Given the description of an element on the screen output the (x, y) to click on. 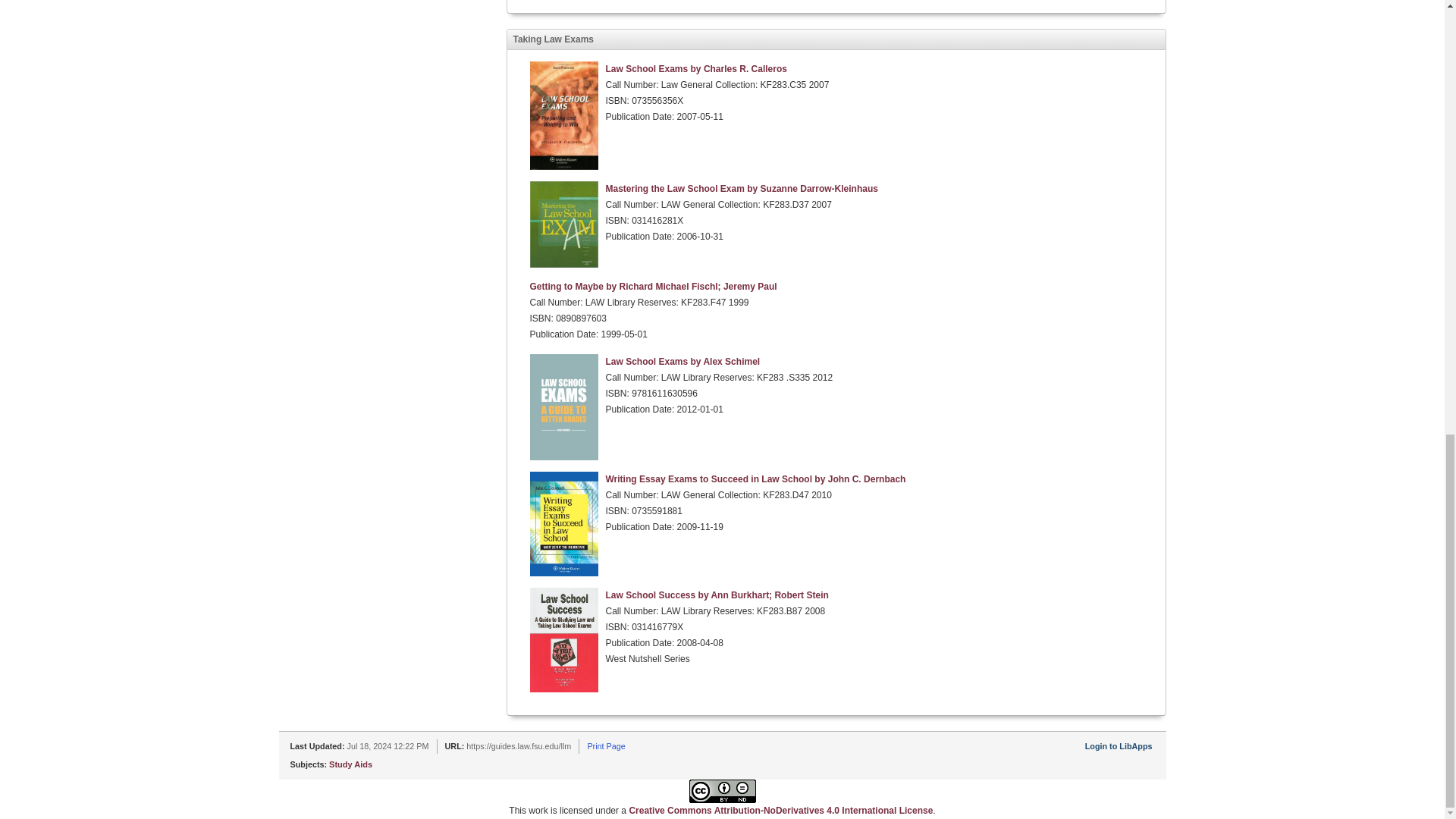
Study Aids (350, 764)
Login to LibApps (1118, 746)
Mastering the Law School Exam by Suzanne Darrow-Kleinhaus (741, 188)
Print Page (605, 746)
Law School Exams by Alex Schimel (682, 361)
Getting to Maybe by Richard Michael Fischl; Jeremy Paul (652, 286)
Law School Exams by Charles R. Calleros (695, 68)
Law School Success by Ann Burkhart; Robert Stein (716, 594)
